Given the description of an element on the screen output the (x, y) to click on. 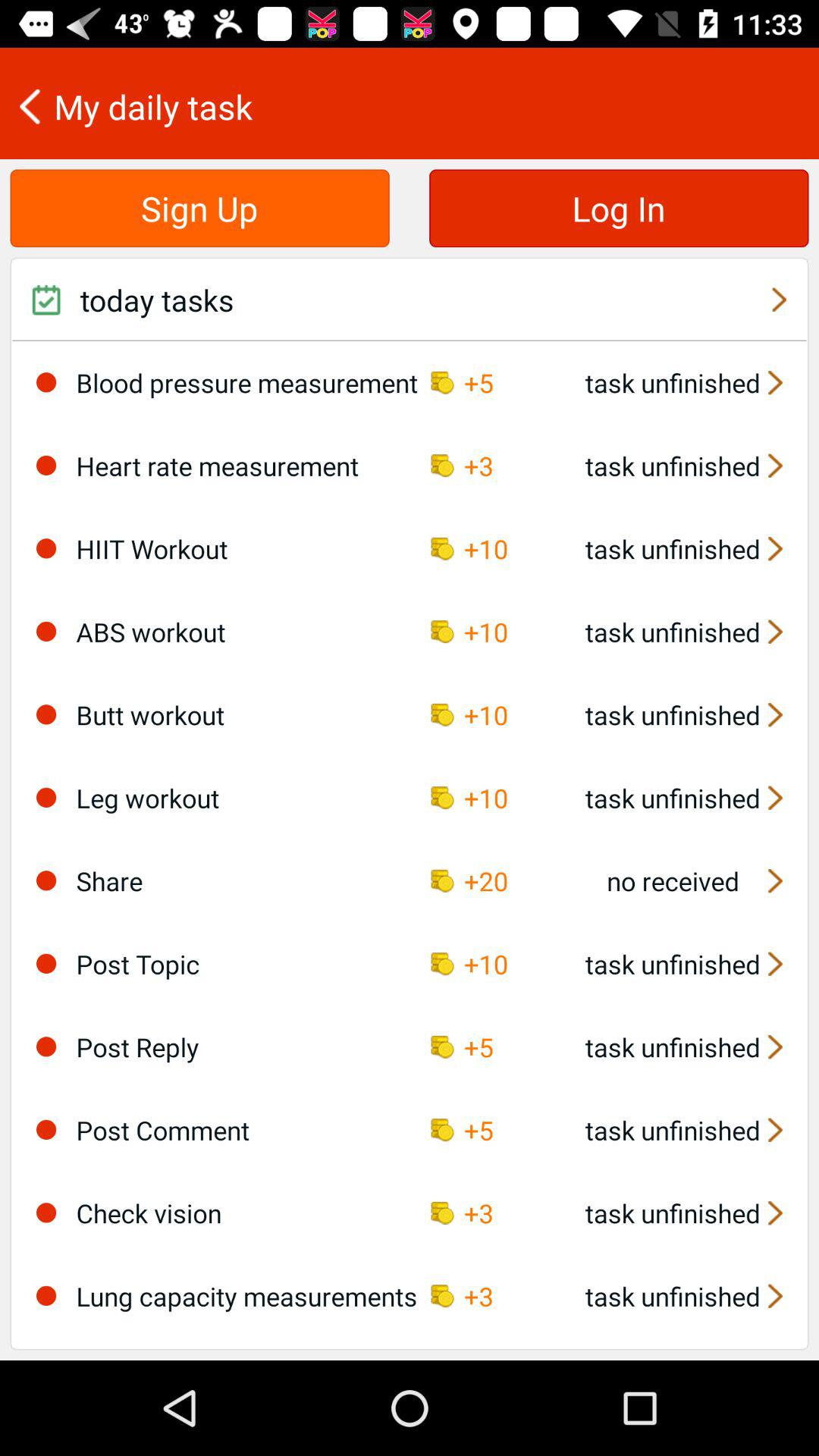
turn off the sign up item (199, 208)
